Given the description of an element on the screen output the (x, y) to click on. 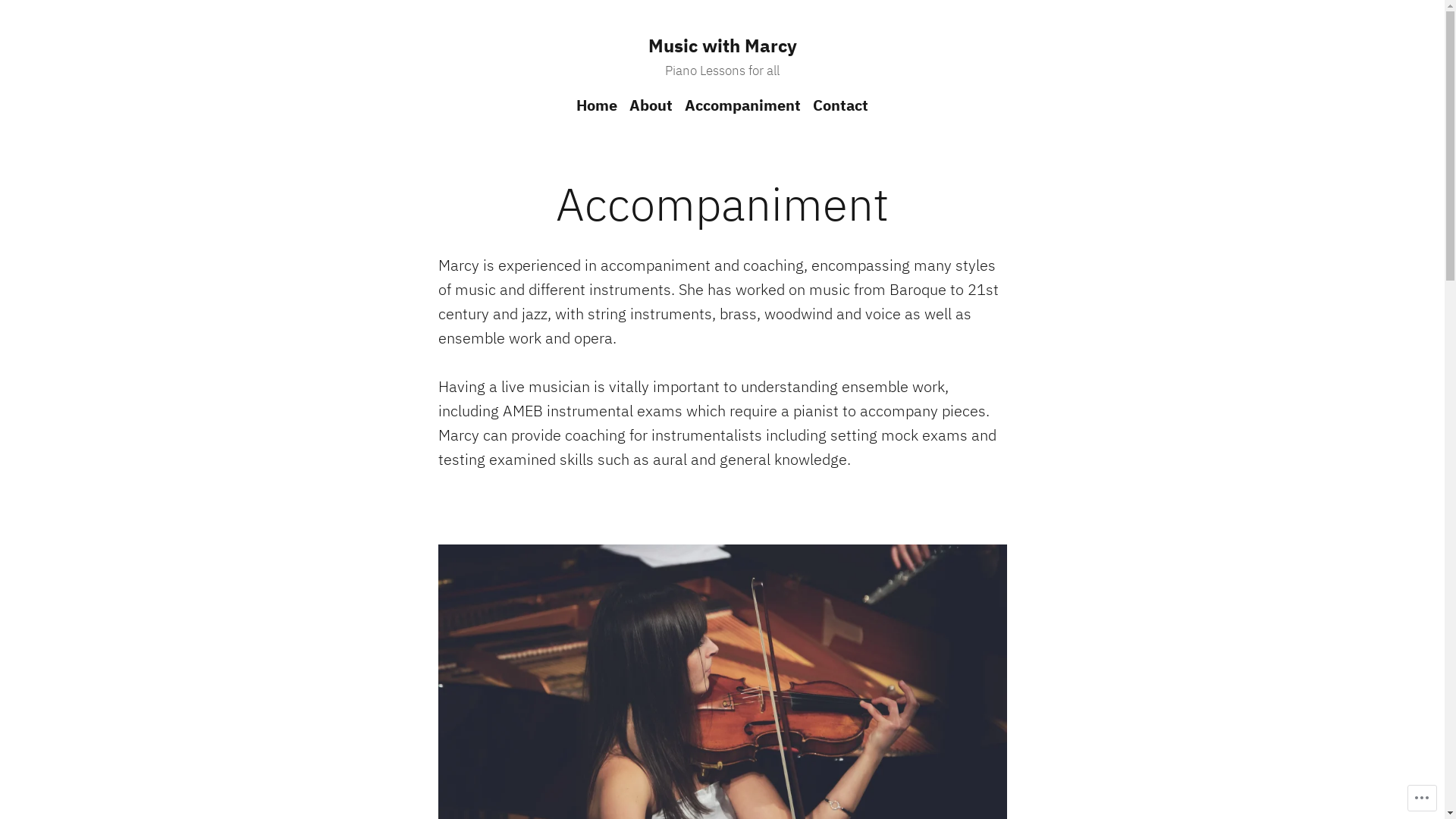
Music with Marcy Element type: text (721, 45)
Accompaniment Element type: text (742, 104)
Home Element type: text (599, 104)
About Element type: text (650, 104)
Contact Element type: text (837, 104)
